Given the description of an element on the screen output the (x, y) to click on. 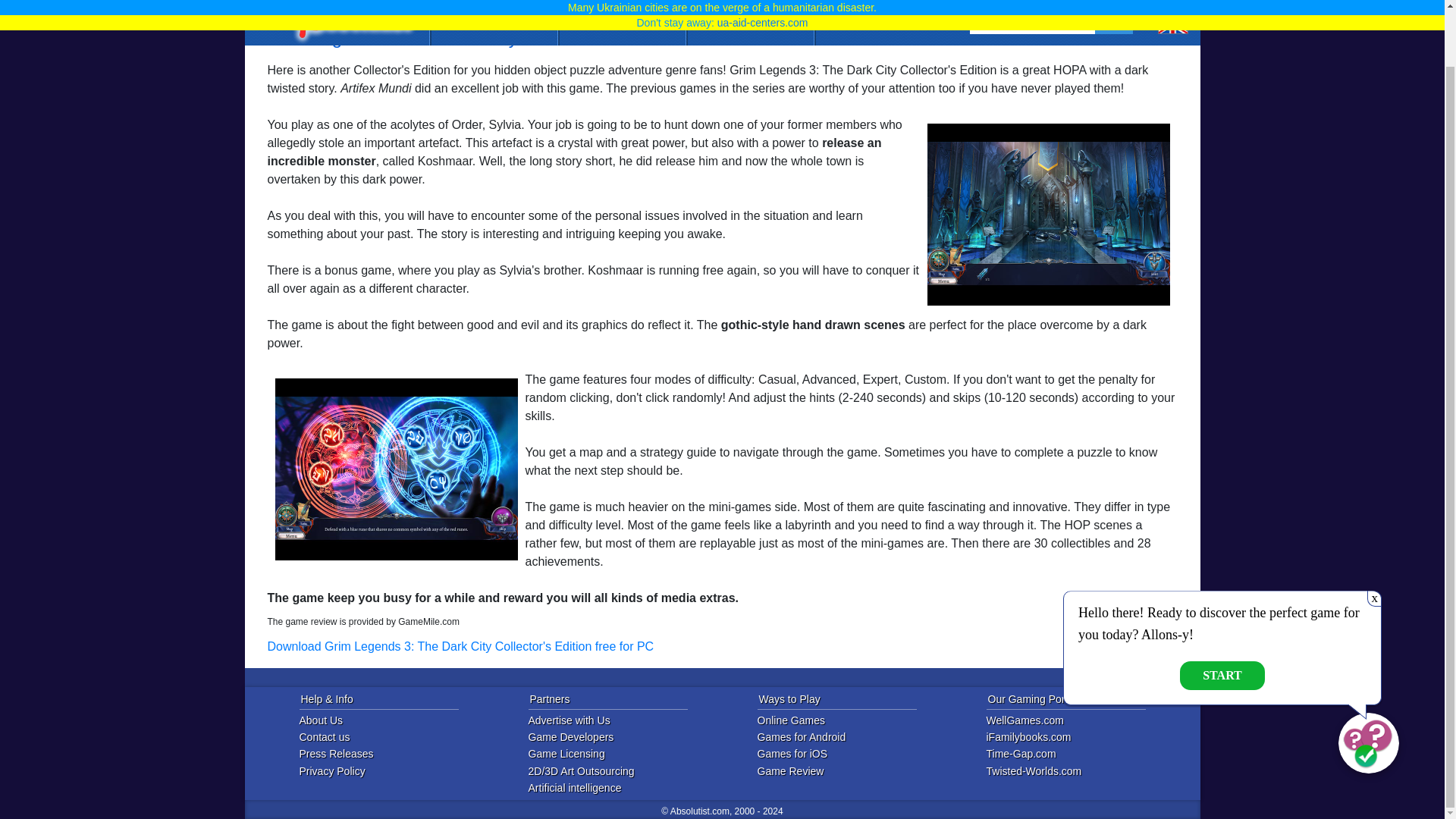
Grim Legends 3: The Dark City (395, 469)
START (1222, 613)
Contact us (389, 736)
About Us (389, 719)
